Given the description of an element on the screen output the (x, y) to click on. 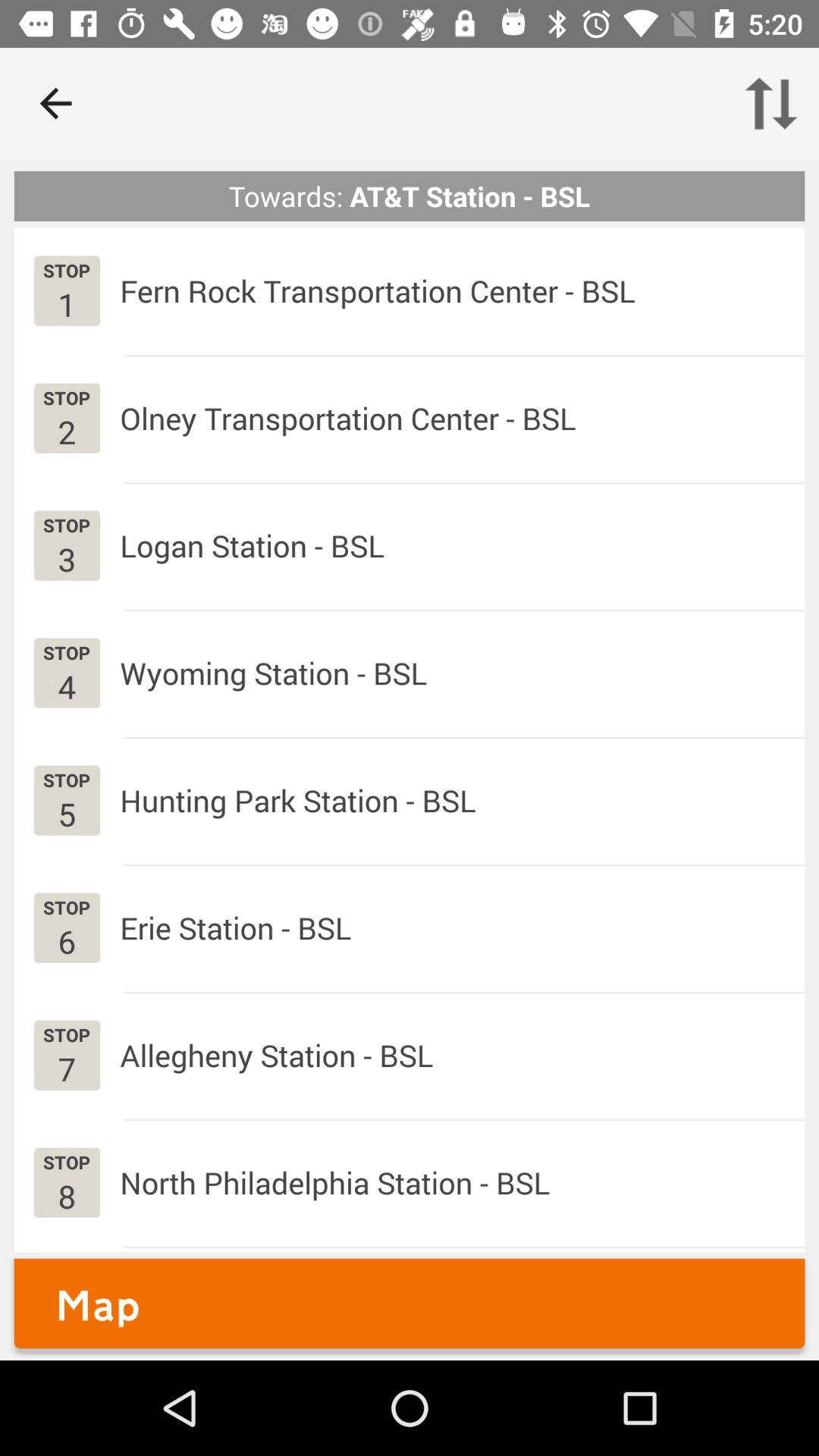
tap the 5 (66, 813)
